Given the description of an element on the screen output the (x, y) to click on. 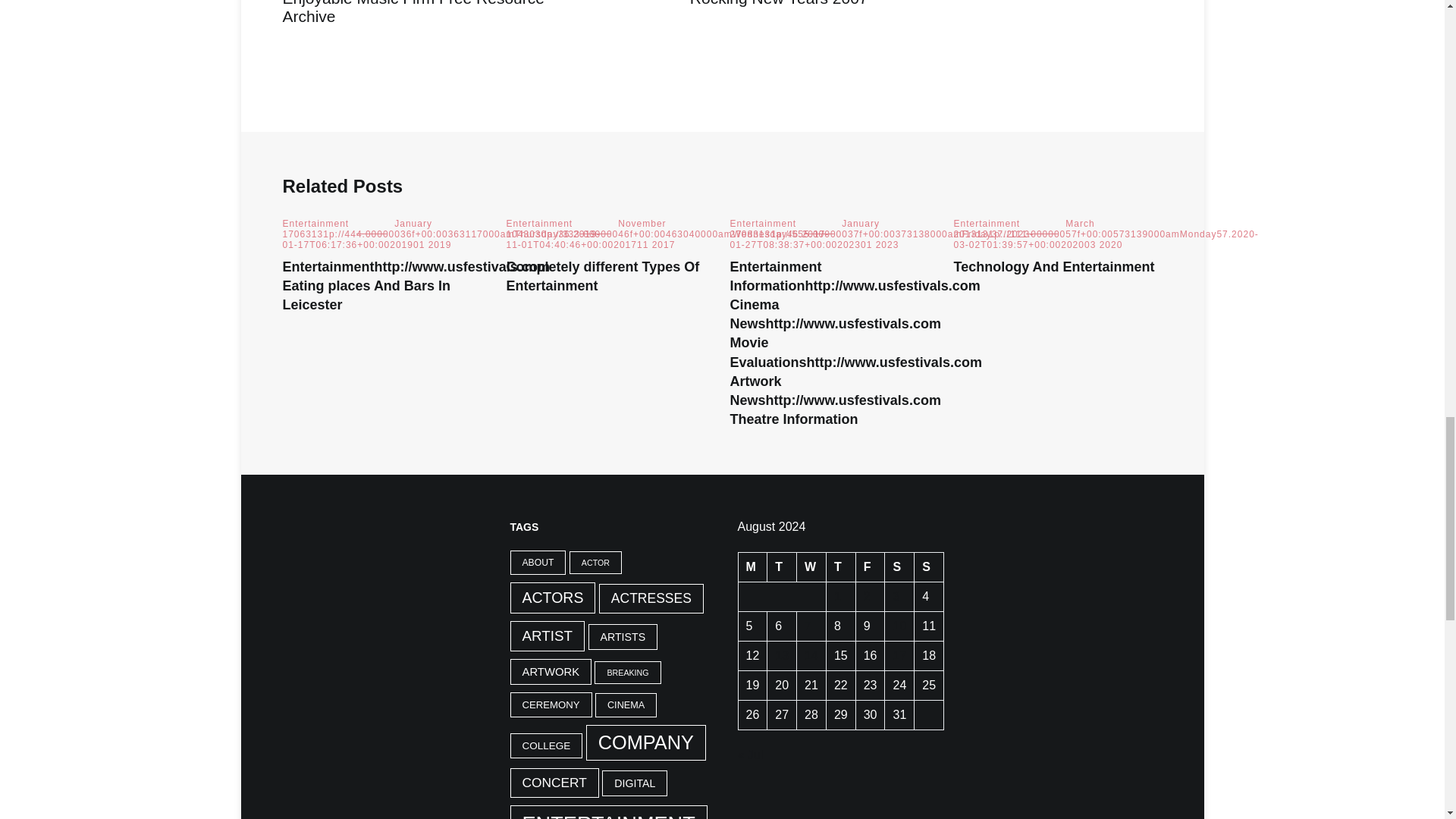
Thursday (840, 567)
Wednesday (811, 567)
Monday (752, 567)
Tuesday (781, 567)
Saturday (899, 567)
Sunday (928, 567)
Friday (870, 567)
